Given the description of an element on the screen output the (x, y) to click on. 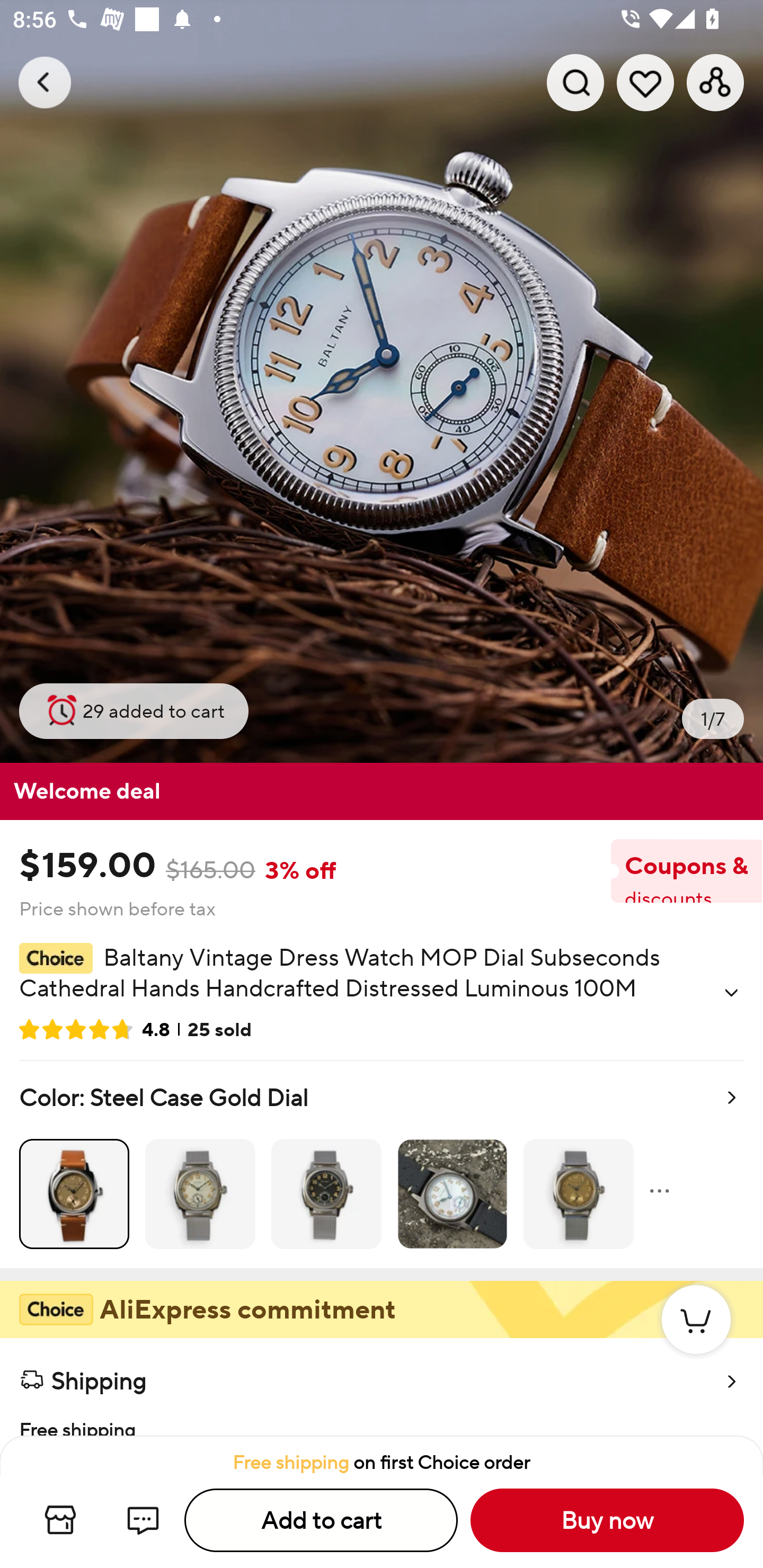
Navigate up (44, 82)
 (730, 992)
Color: Steel Case Gold Dial  (381, 1164)
Shipping  Free shipping  (381, 1386)
Free shipping  (381, 1418)
Add to cart (320, 1520)
Buy now (606, 1520)
